Given the description of an element on the screen output the (x, y) to click on. 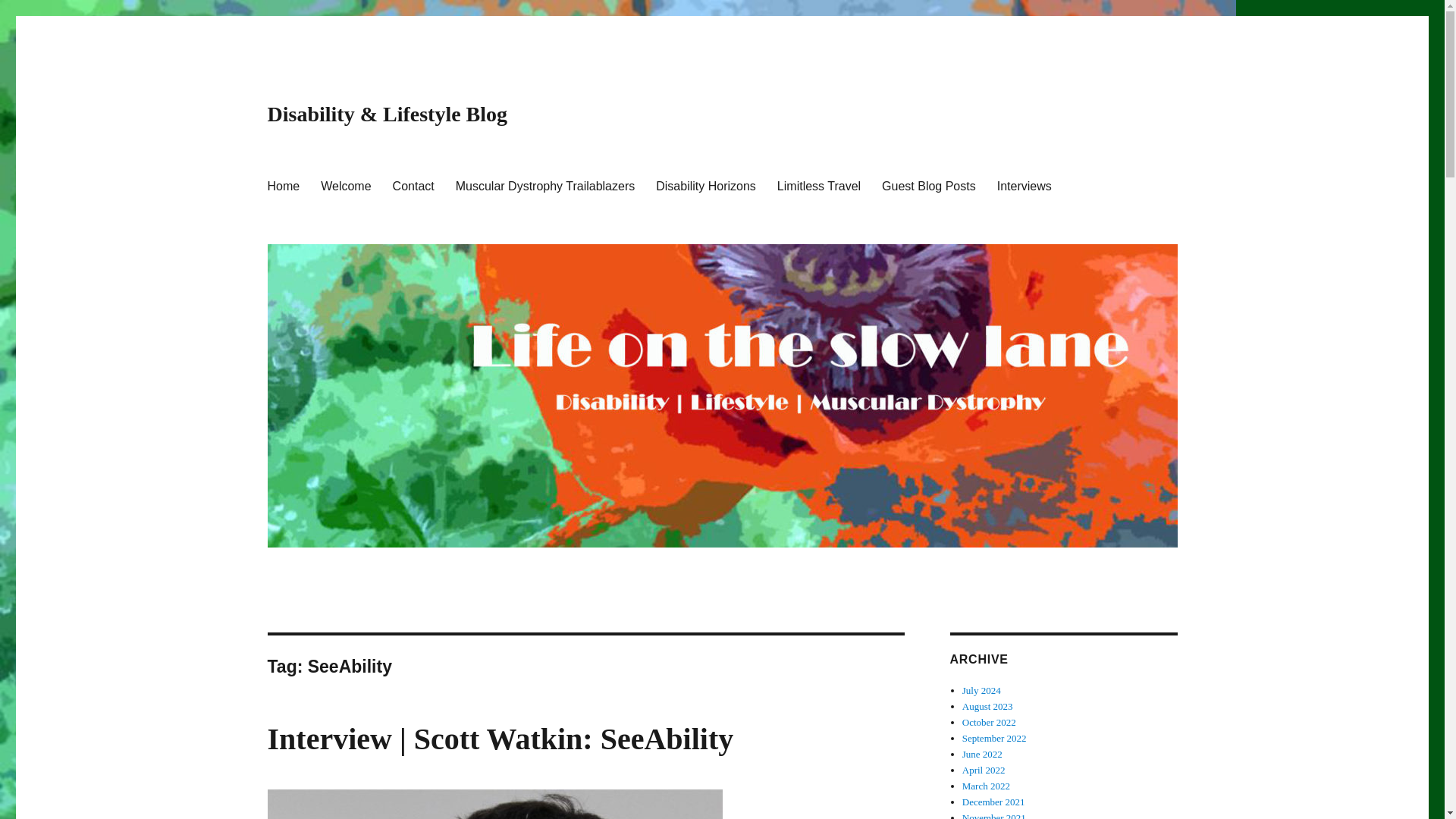
Guest Blog Posts (928, 185)
Muscular Dystrophy Trailablazers (545, 185)
Home (283, 185)
Disability Horizons (706, 185)
Interviews (1024, 185)
Limitless Travel (818, 185)
Welcome (345, 185)
Contact (413, 185)
